Given the description of an element on the screen output the (x, y) to click on. 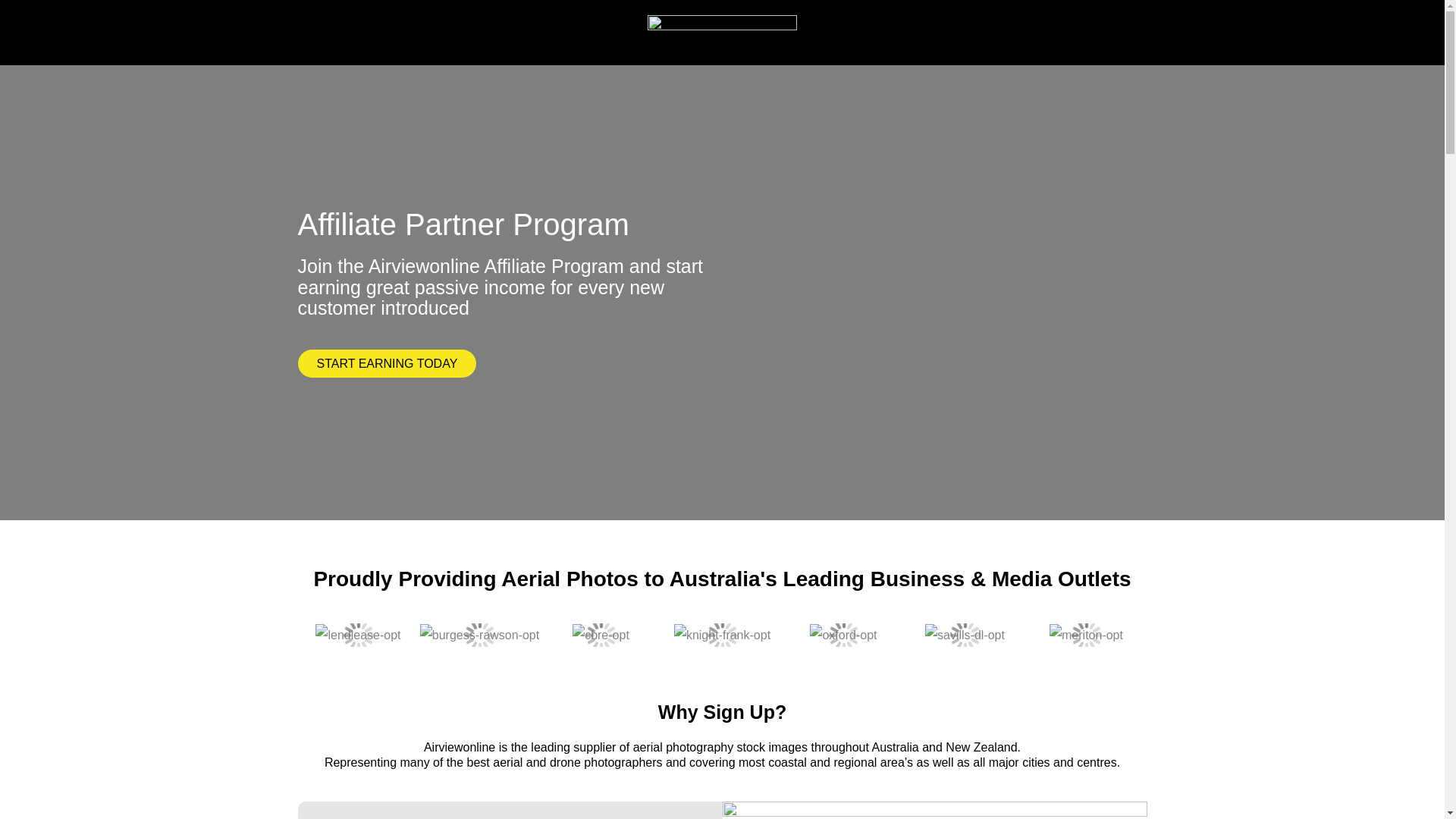
START EARNING TODAY (386, 363)
